Given the description of an element on the screen output the (x, y) to click on. 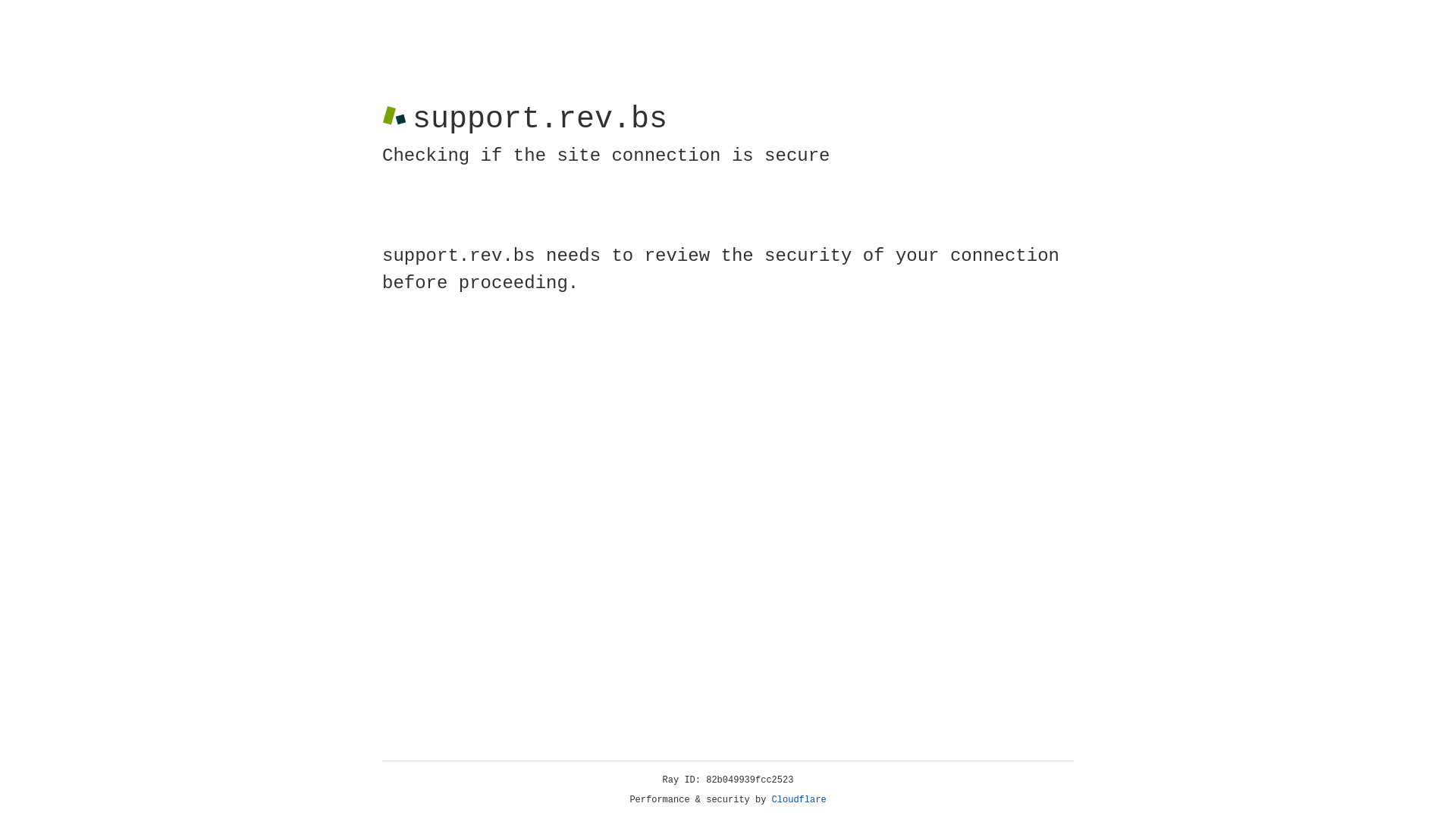
Cloudflare Element type: text (798, 799)
